Given the description of an element on the screen output the (x, y) to click on. 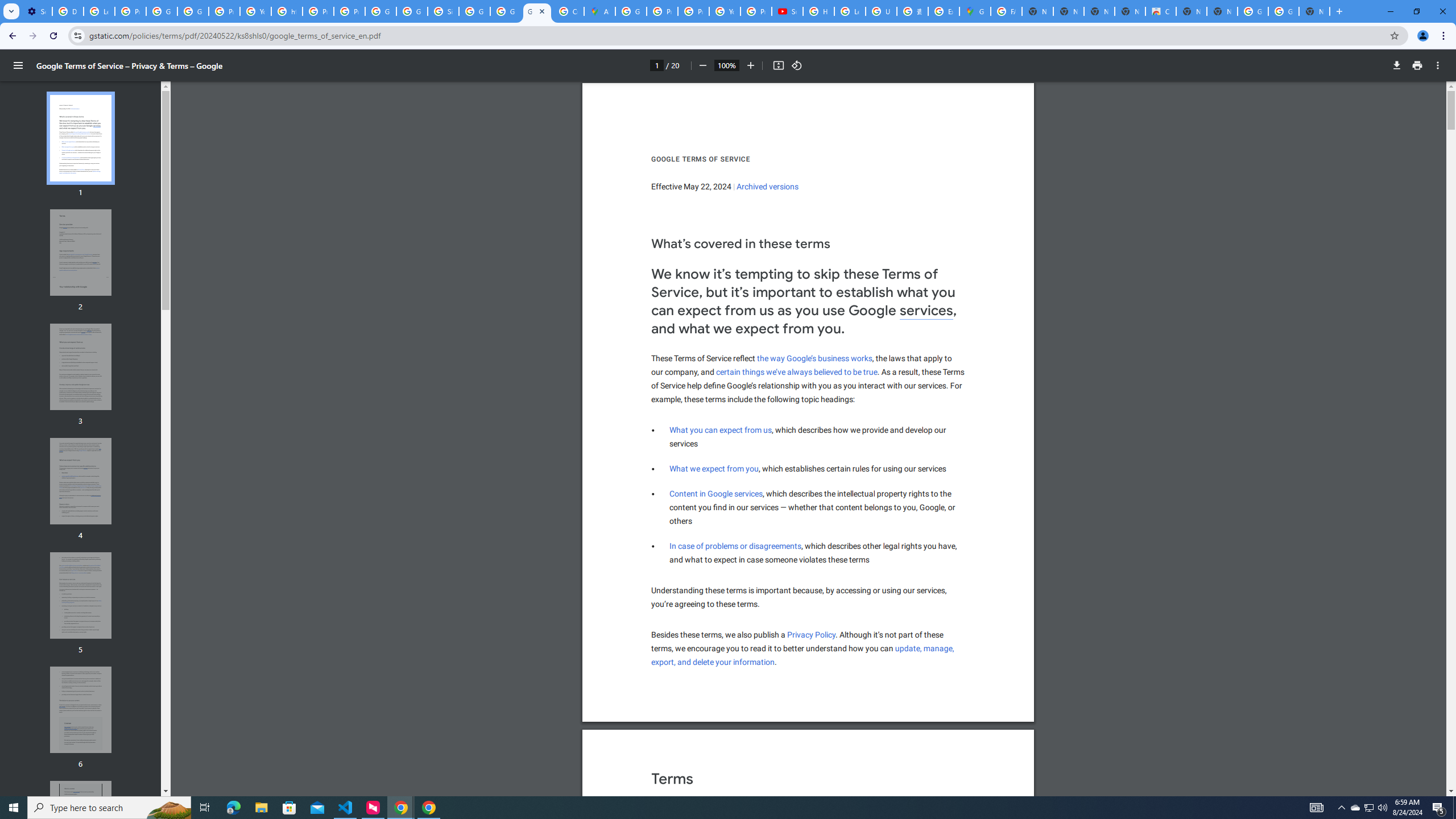
What you can expect from us (720, 429)
Thumbnail for page 1 (80, 138)
YouTube (724, 11)
Create your Google Account (568, 11)
Subscriptions - YouTube (787, 11)
